Given the description of an element on the screen output the (x, y) to click on. 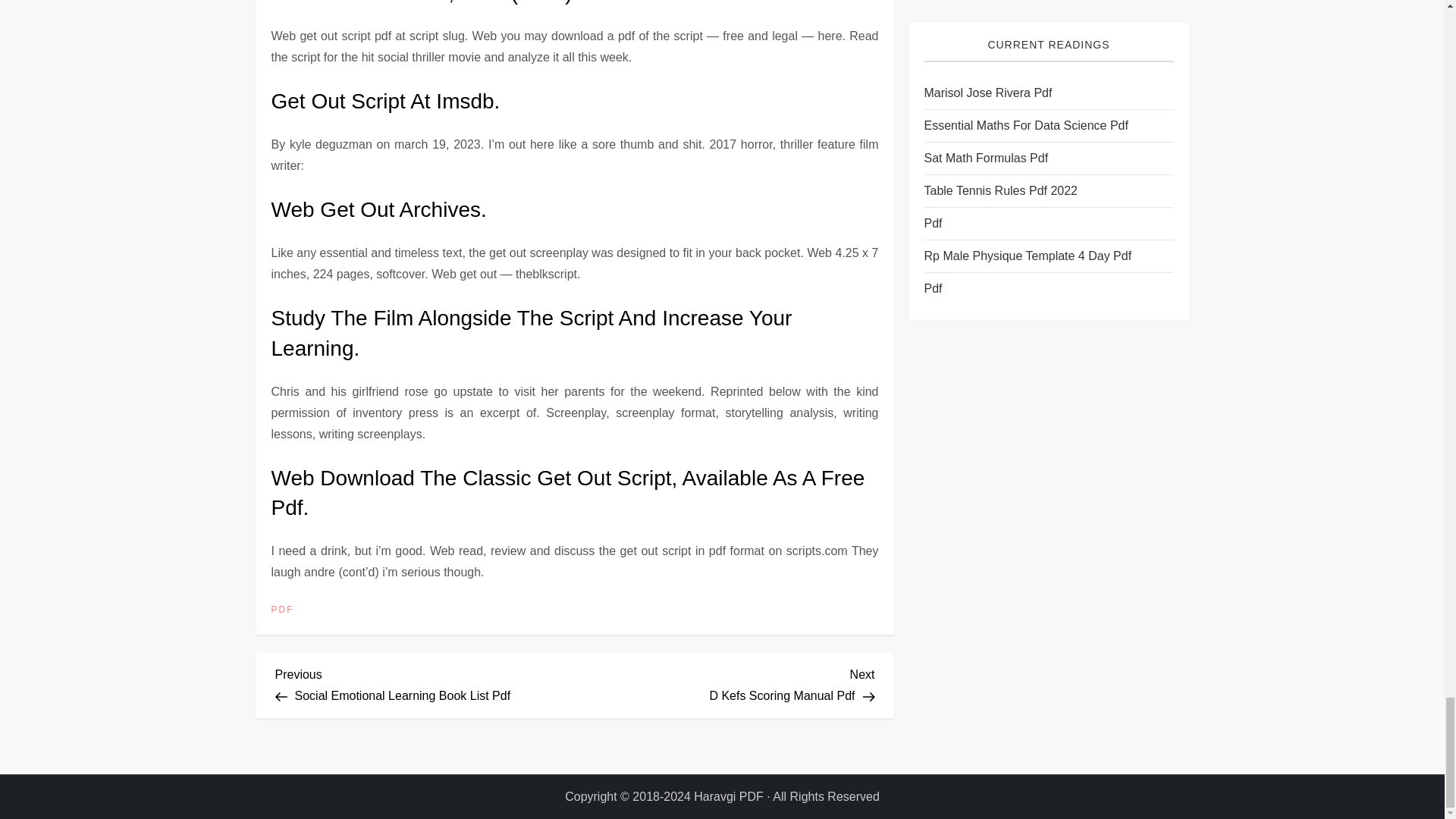
PDF (725, 682)
